Given the description of an element on the screen output the (x, y) to click on. 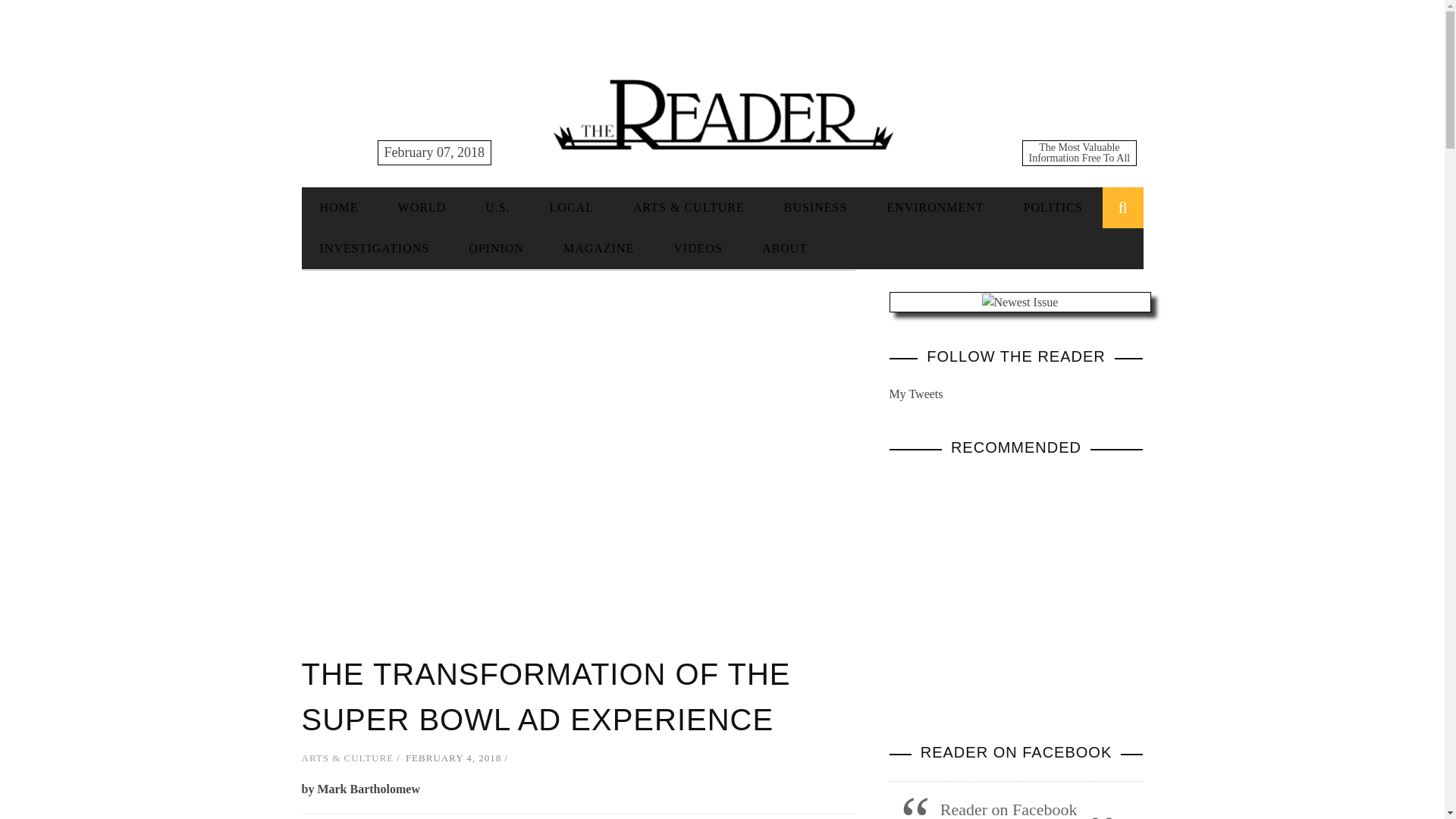
WORLD (422, 206)
HOME (339, 206)
